Given the description of an element on the screen output the (x, y) to click on. 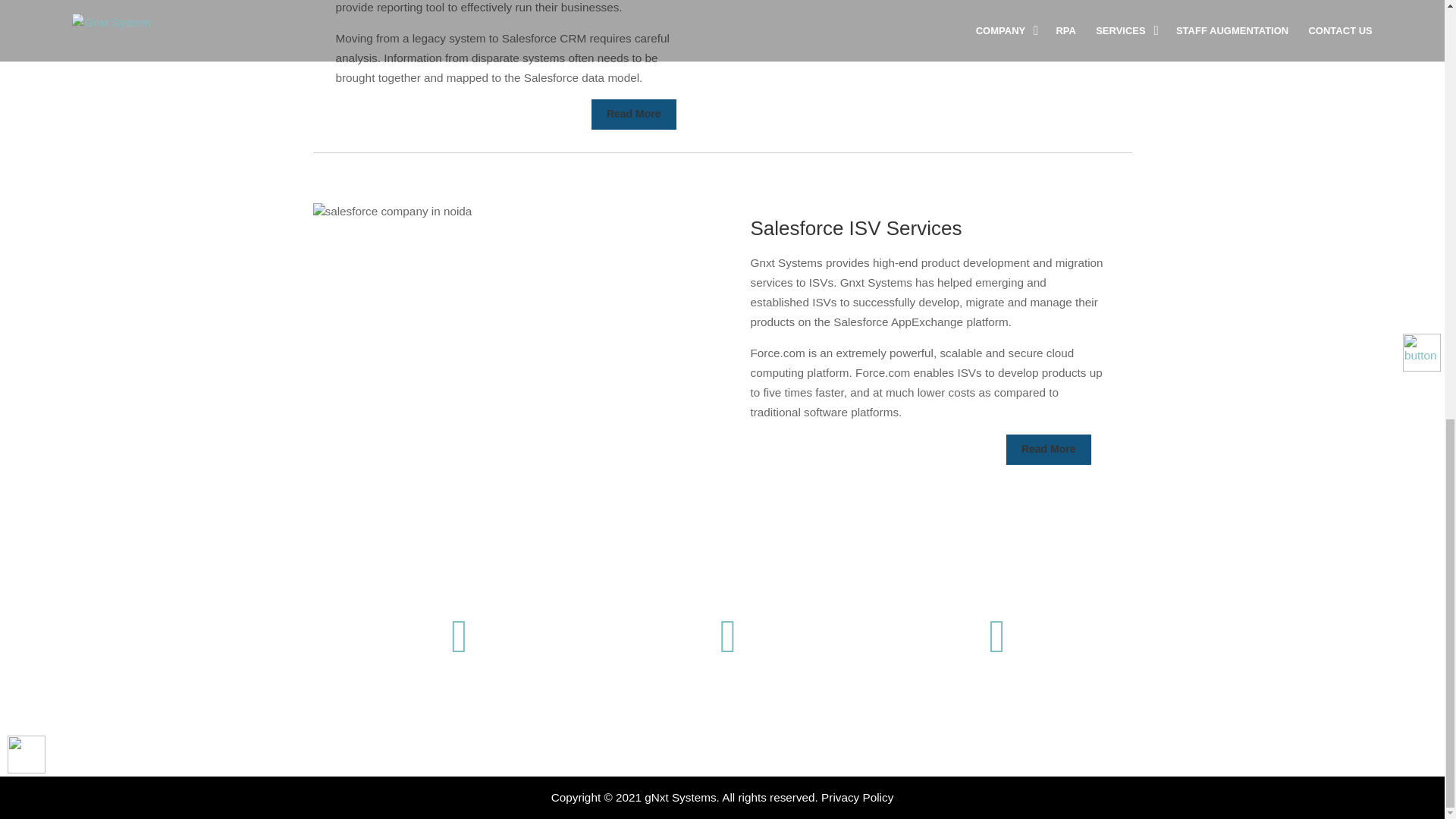
Read More (634, 114)
Twitter (728, 665)
Linkedin (997, 665)
Facebook (459, 665)
Read More (1048, 449)
FOLLOW US ON TWITTER (728, 754)
JOIN THE CONVERSATION (459, 754)
FOLLOW US ON LINKEDIN (997, 754)
